Given the description of an element on the screen output the (x, y) to click on. 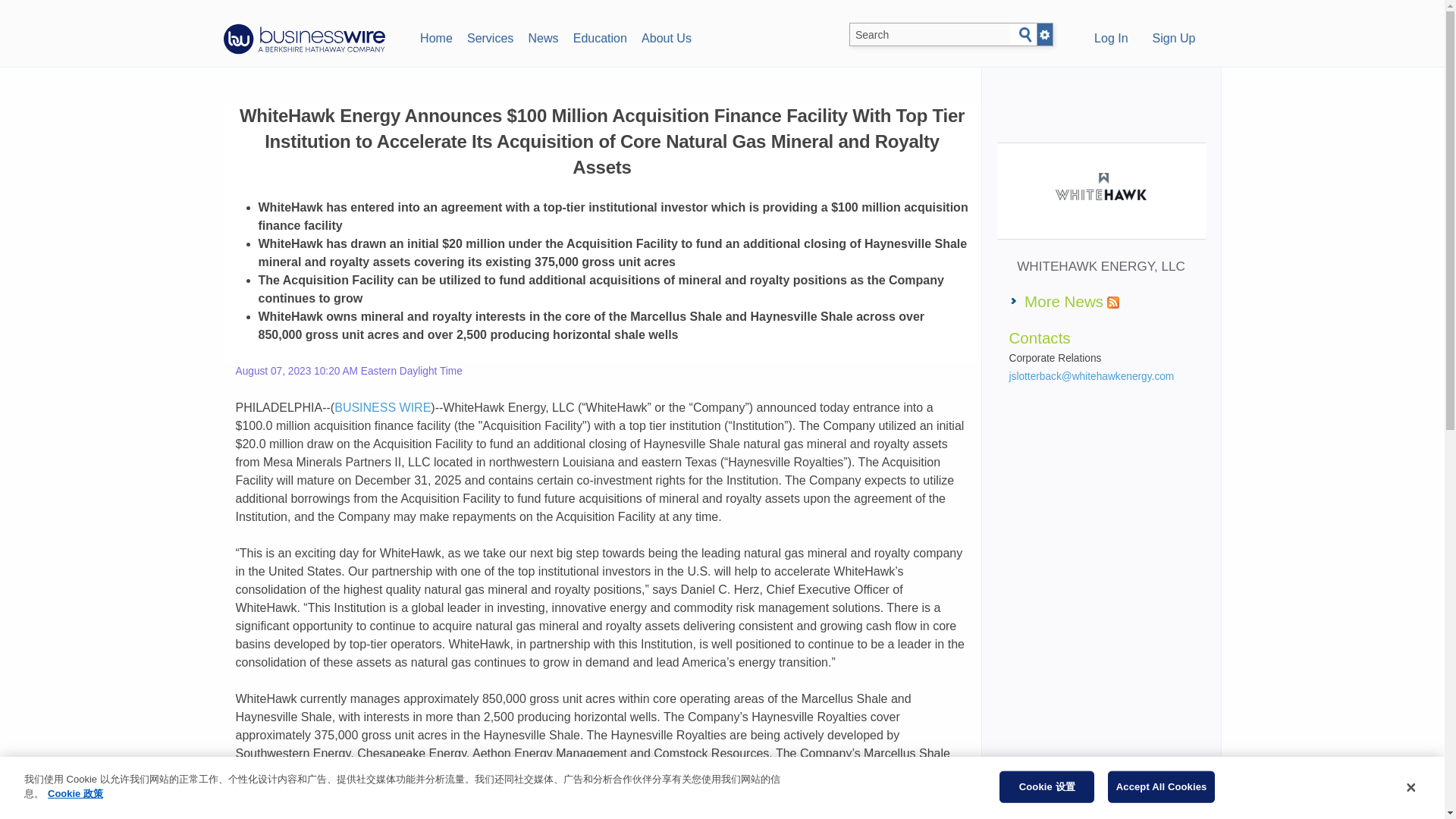
Search (1025, 34)
Home (436, 36)
Services (490, 36)
Search BusinessWire.com (930, 34)
About Us (665, 36)
RSS feed for null (1112, 302)
News (543, 36)
BUSINESS WIRE (382, 407)
Education (599, 36)
